Given the description of an element on the screen output the (x, y) to click on. 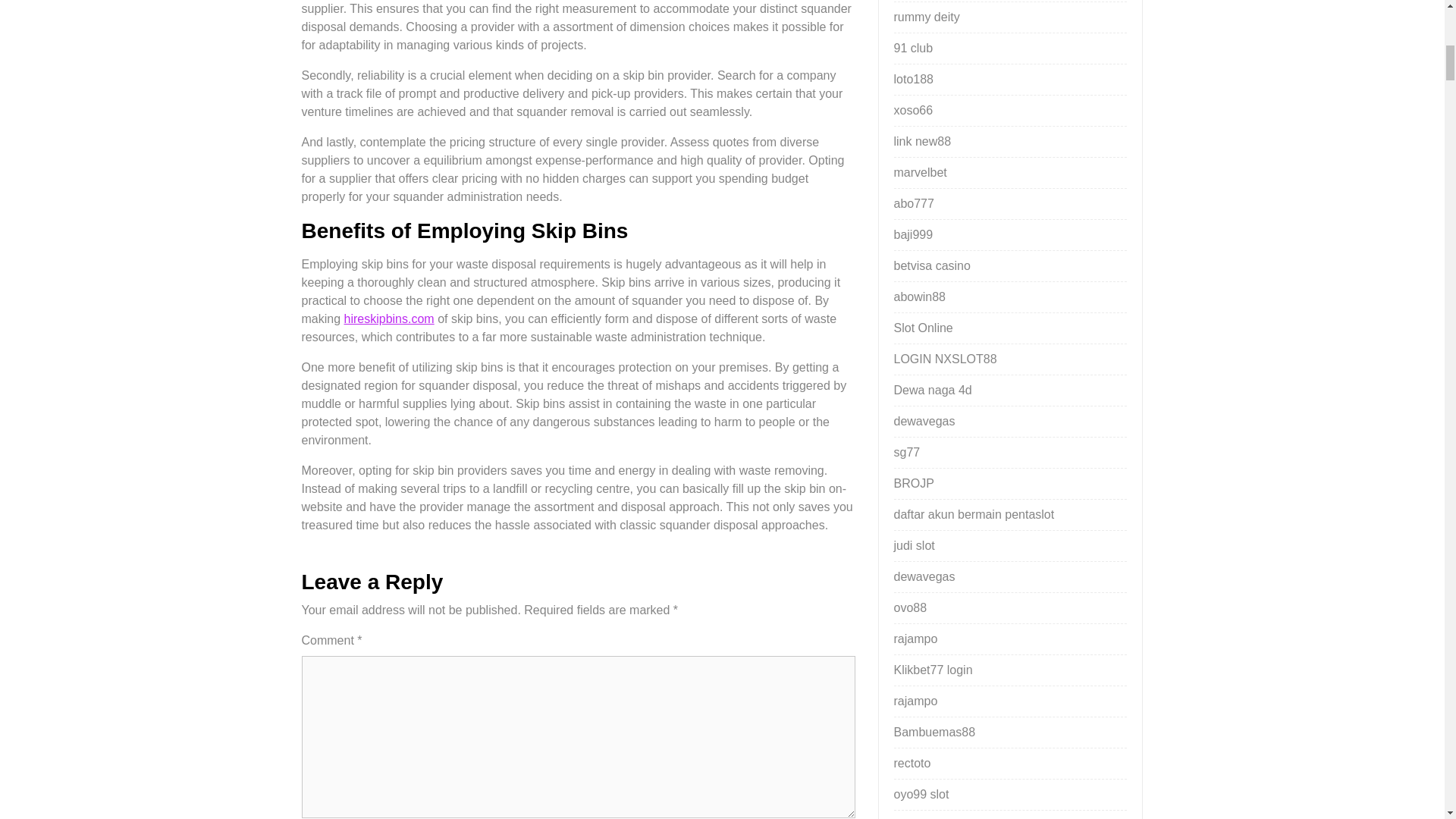
dewavegas (924, 420)
Dewa naga 4d (932, 390)
dewavegas (924, 576)
judi slot (913, 545)
loto188 (913, 78)
marvelbet (919, 172)
rajampo (915, 638)
link new88 (921, 141)
BROJP (913, 482)
baji999 (913, 234)
abowin88 (918, 296)
abo777 (913, 203)
hireskipbins.com (388, 318)
LOGIN NXSLOT88 (944, 358)
rummy deity (926, 16)
